Given the description of an element on the screen output the (x, y) to click on. 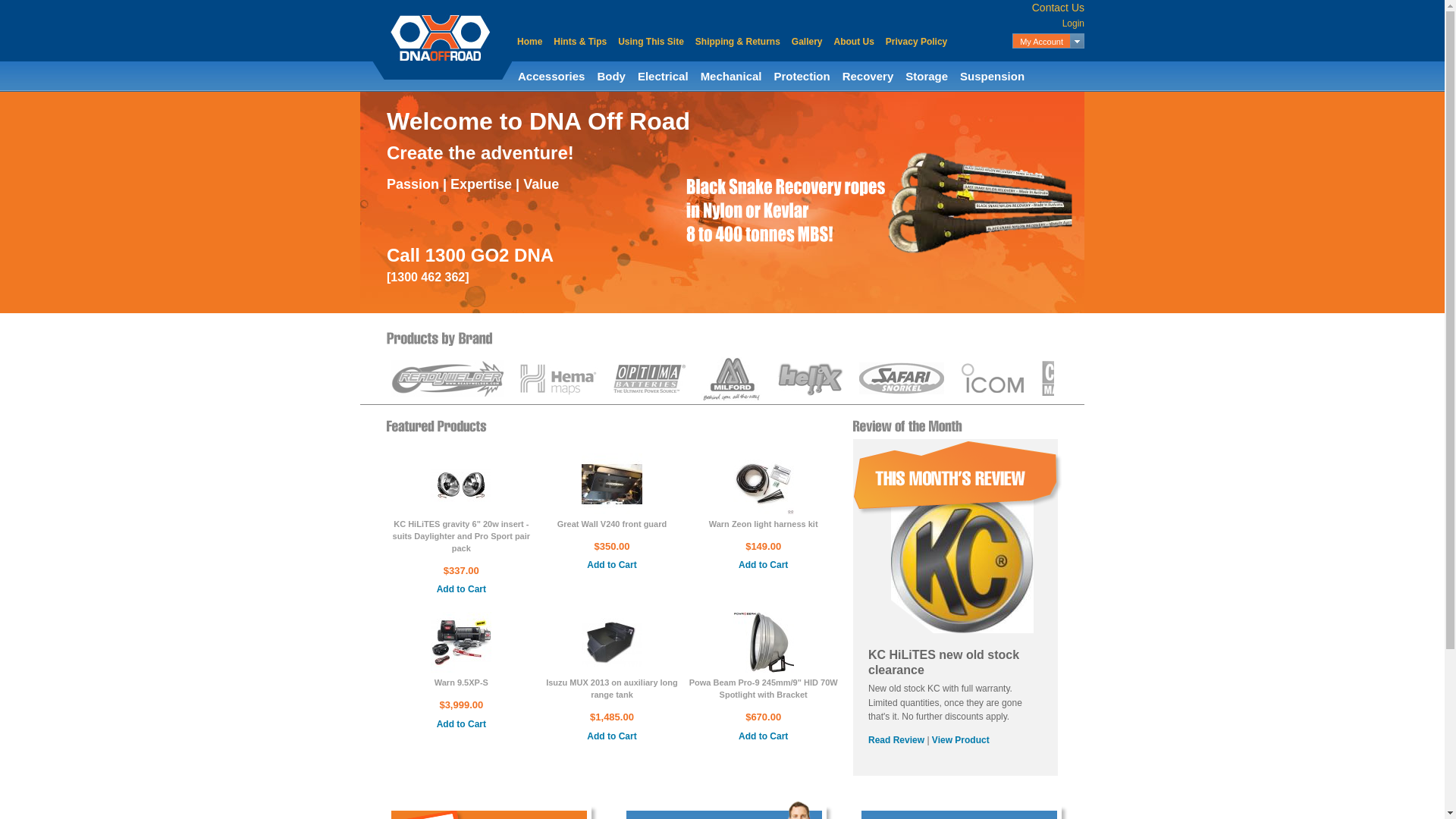
Login Element type: text (1073, 23)
Warn Zeon light harness kit Element type: text (763, 523)
Body Element type: text (610, 75)
Isuzu MUX 2013 on auxiliary long range tank Element type: text (611, 688)
Warn 9.5XP-S Element type: text (461, 682)
Read Review Element type: text (896, 739)
DNA Off Road Element type: hover (439, 37)
Accessories Element type: text (550, 75)
Great Wall V240 front guard Element type: hover (611, 459)
Warn 9.5XP-S Element type: hover (460, 618)
Privacy Policy Element type: text (916, 41)
Shipping & Returns Element type: text (737, 41)
Using This Site Element type: text (651, 41)
My Account Element type: text (1041, 41)
Powa Beam Pro-9 245mm/9" HID 70W Spotlight with Bracket Element type: text (763, 688)
Add to Cart Element type: text (611, 565)
Contact Us Element type: text (1058, 7)
Suspension Element type: text (992, 75)
Protection Element type: text (801, 75)
Hints & Tips Element type: text (579, 41)
Great Wall V240 front guard Element type: text (611, 523)
Gallery Element type: text (806, 41)
Powa Beam Pro-9 245mm/9" HID 70W Spotlight with Bracket Element type: hover (763, 618)
Add to Cart Element type: text (461, 724)
Mechanical Element type: text (731, 75)
Isuzu MUX 2013 on auxiliary long range tank Element type: hover (611, 618)
View Product Element type: text (960, 739)
Add to Cart Element type: text (762, 565)
Home Element type: text (529, 41)
Add to Cart Element type: text (611, 736)
  Element type: text (1077, 40)
About Us Element type: text (854, 41)
Warn Zeon light harness kit Element type: hover (763, 459)
Storage Element type: text (926, 75)
Add to Cart Element type: text (461, 589)
Electrical Element type: text (662, 75)
Recovery Element type: text (868, 75)
Add to Cart Element type: text (762, 736)
